Given the description of an element on the screen output the (x, y) to click on. 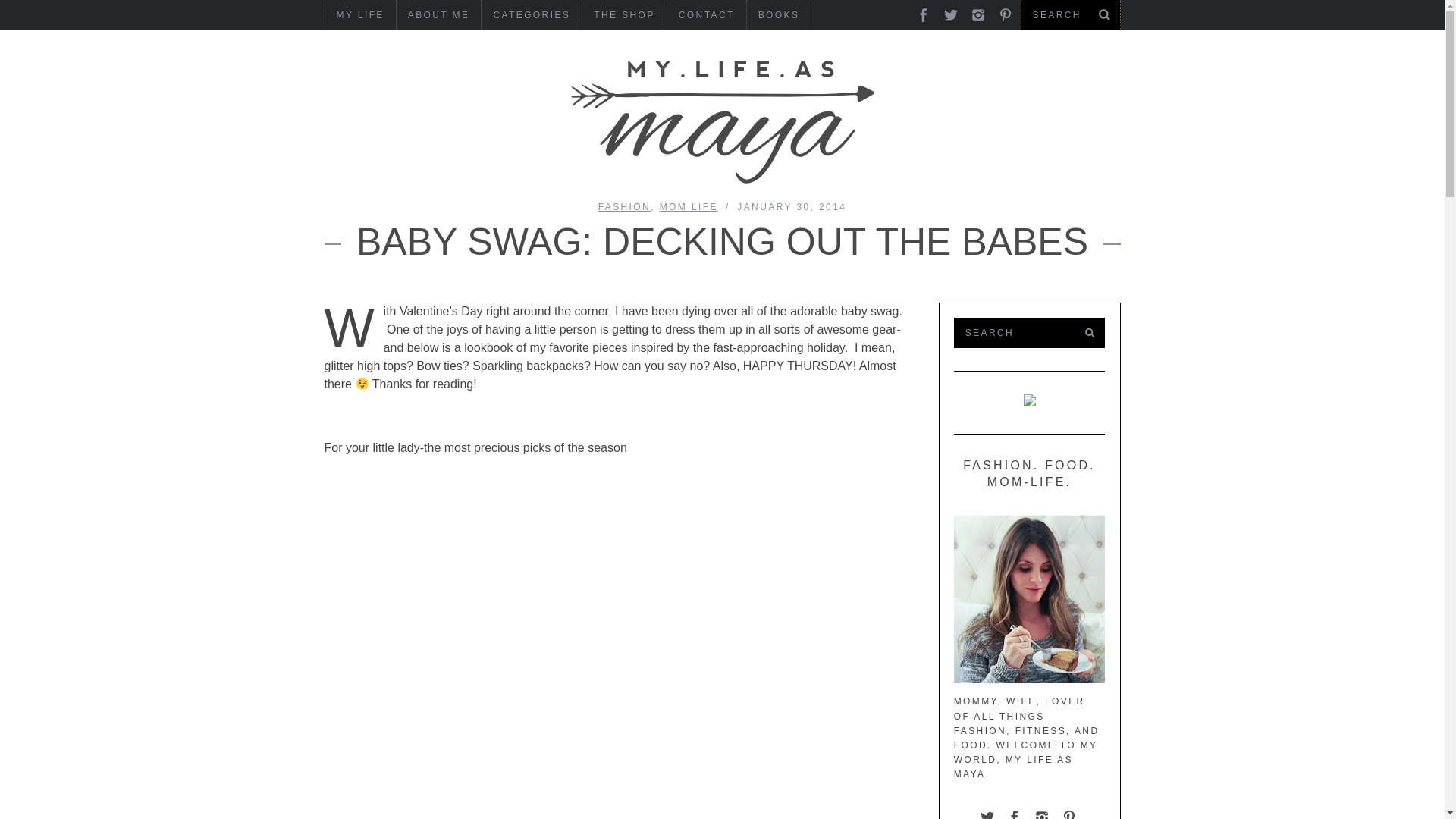
FASHION (624, 206)
Search (1016, 332)
MOM LIFE (688, 206)
MY LIFE (359, 14)
BOOKS (778, 14)
ABOUT ME (438, 14)
My Life As Maya - FASHION. FOOD. FITNESS. MOM LIFE. (721, 121)
CATEGORIES (530, 14)
CONTACT (705, 14)
Search (1070, 15)
THE SHOP (624, 14)
